Given the description of an element on the screen output the (x, y) to click on. 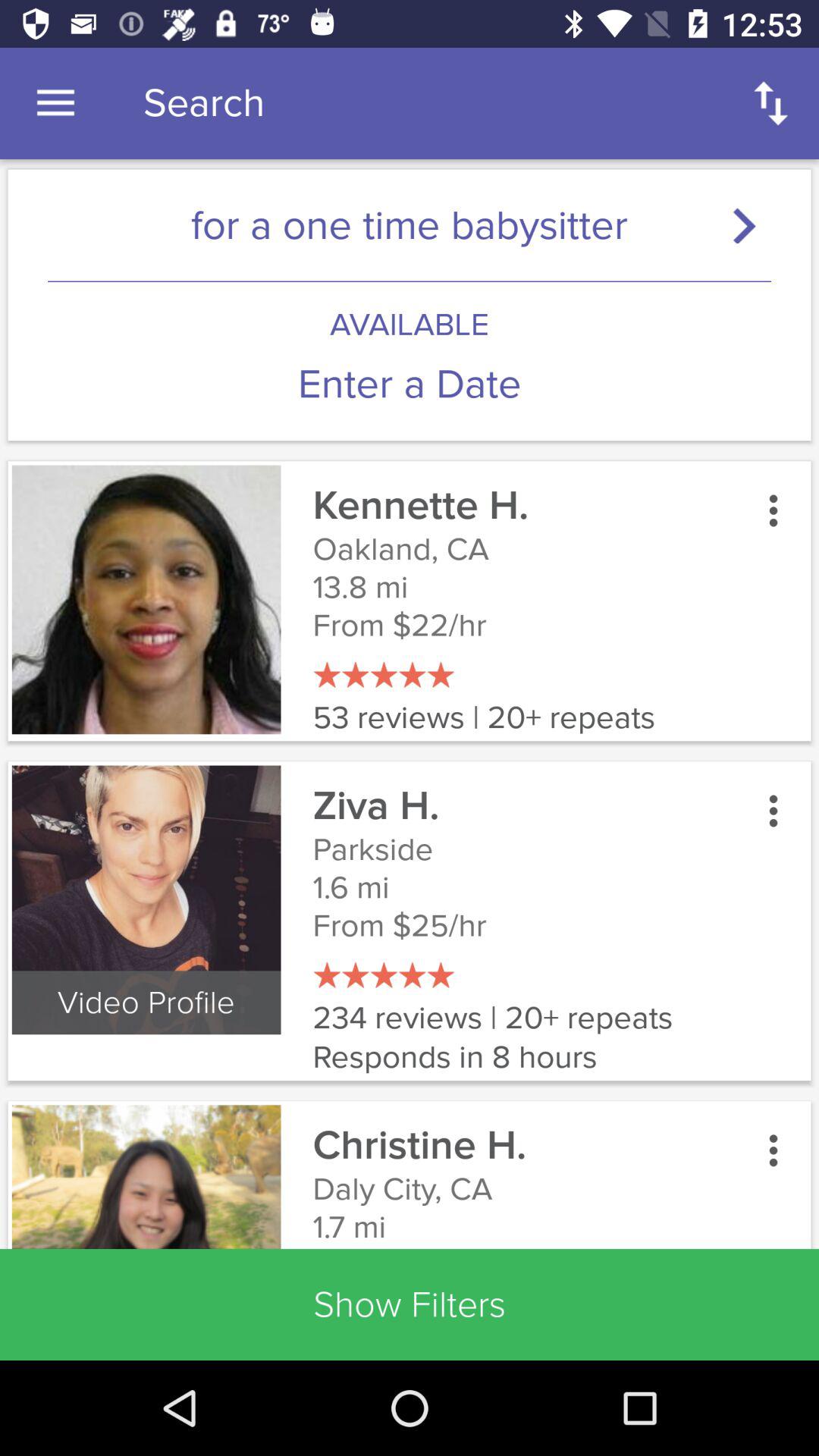
look for more sitters (751, 224)
